Given the description of an element on the screen output the (x, y) to click on. 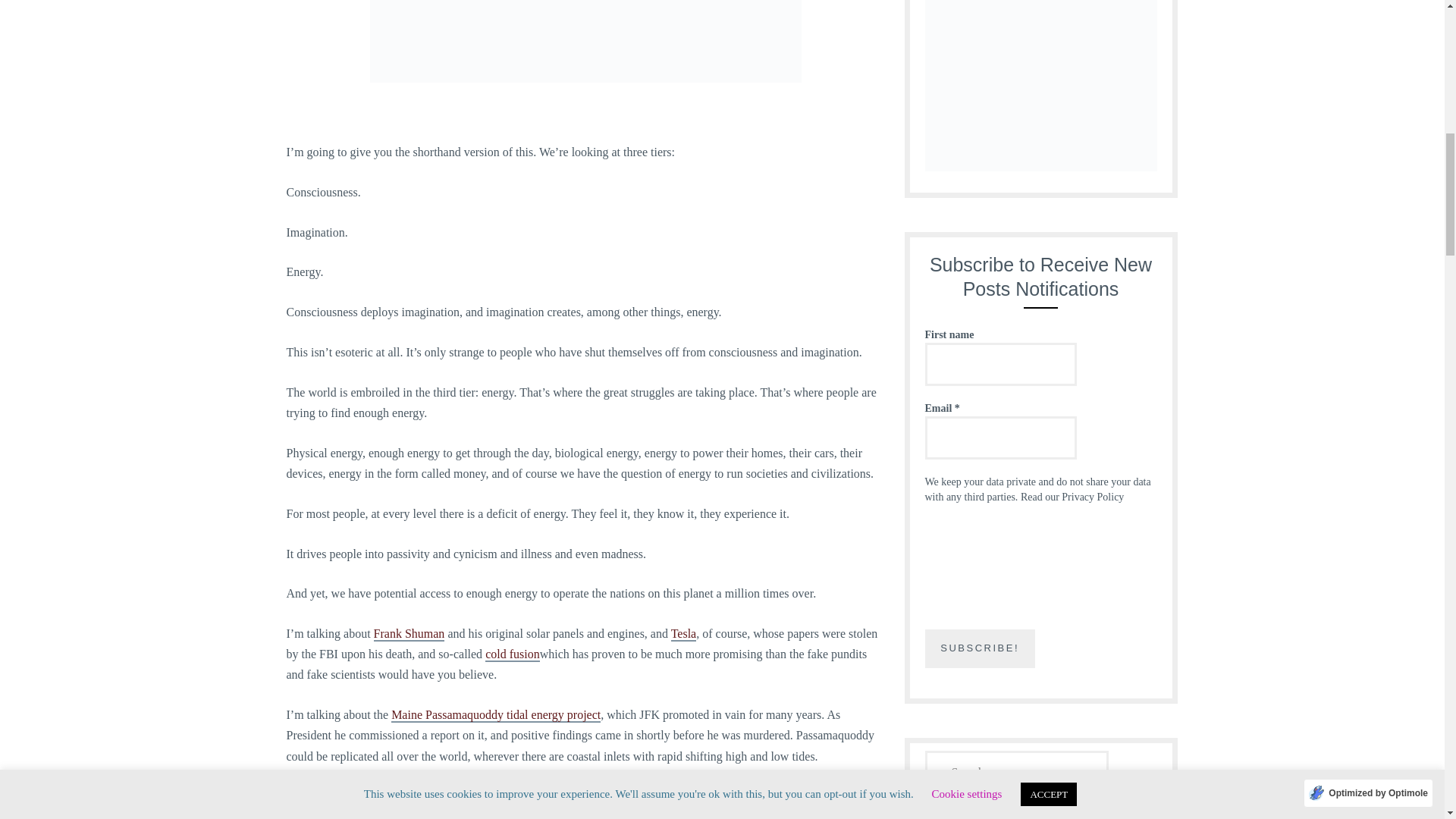
Tesla (684, 634)
cold fusion (512, 654)
First name (1000, 364)
reCAPTCHA (986, 574)
Maine Passamaquoddy tidal energy project (495, 715)
Email (1000, 437)
Subscribe! (979, 648)
Frank Shuman (409, 634)
